Given the description of an element on the screen output the (x, y) to click on. 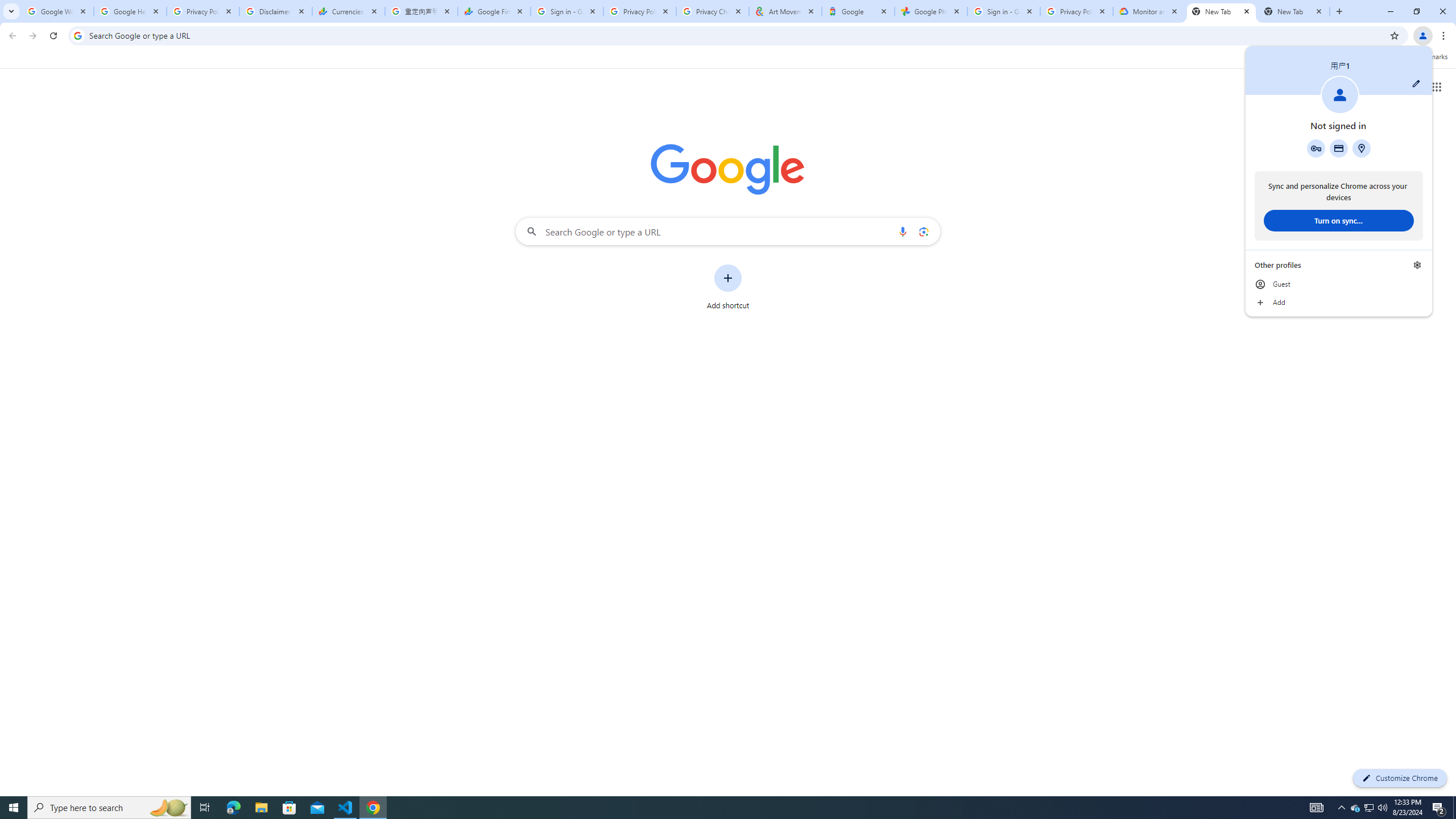
Guest (1338, 284)
Task View (204, 807)
Running applications (717, 807)
Action Center, 2 new notifications (1439, 807)
Q2790: 100% (1382, 807)
New Tab (1368, 807)
Microsoft Edge (1293, 11)
Add (233, 807)
